Given the description of an element on the screen output the (x, y) to click on. 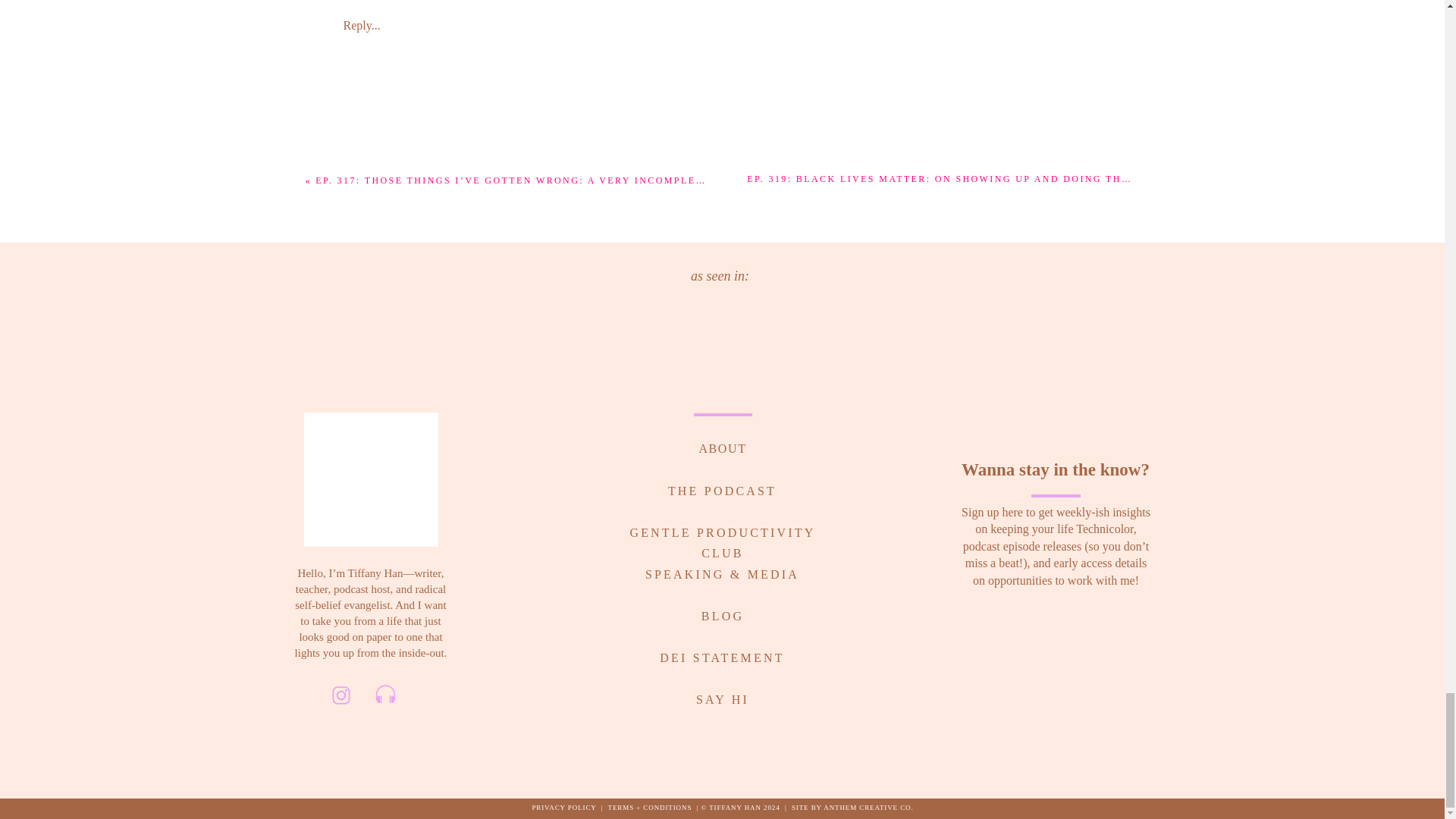
GENTLE PRODUCTIVITY CLUB (721, 529)
BLOG (722, 612)
SAY HI (722, 696)
ABOUT (722, 445)
THE PODCAST (722, 487)
DEI STATEMENT (722, 654)
